Given the description of an element on the screen output the (x, y) to click on. 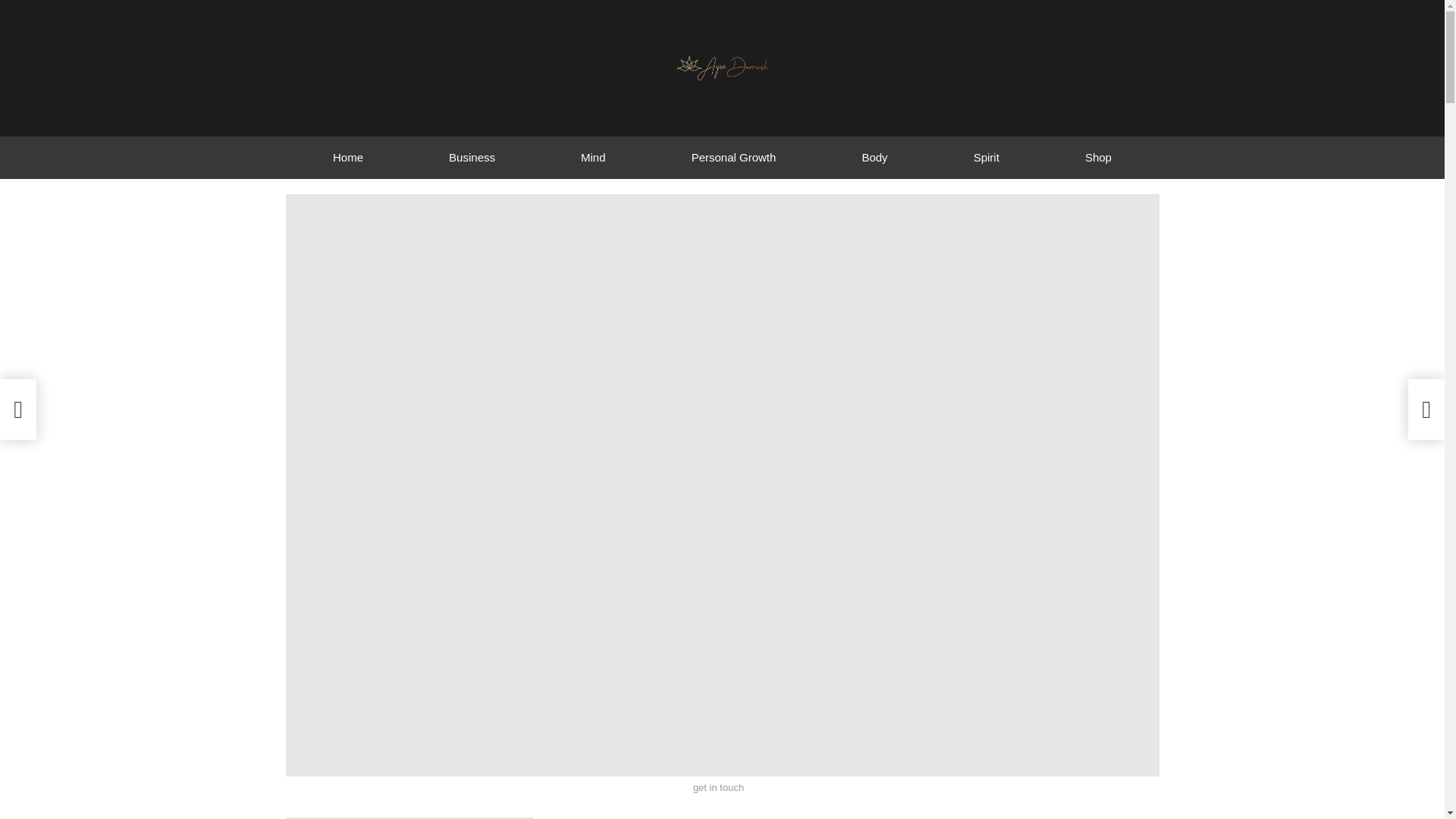
Home (347, 157)
SPIRIT (510, 818)
Business (472, 157)
MIND (349, 818)
BODY (307, 818)
Personal Growth (732, 157)
Shop (1098, 157)
Mind (593, 157)
Spirit (986, 157)
Body (874, 157)
